Given the description of an element on the screen output the (x, y) to click on. 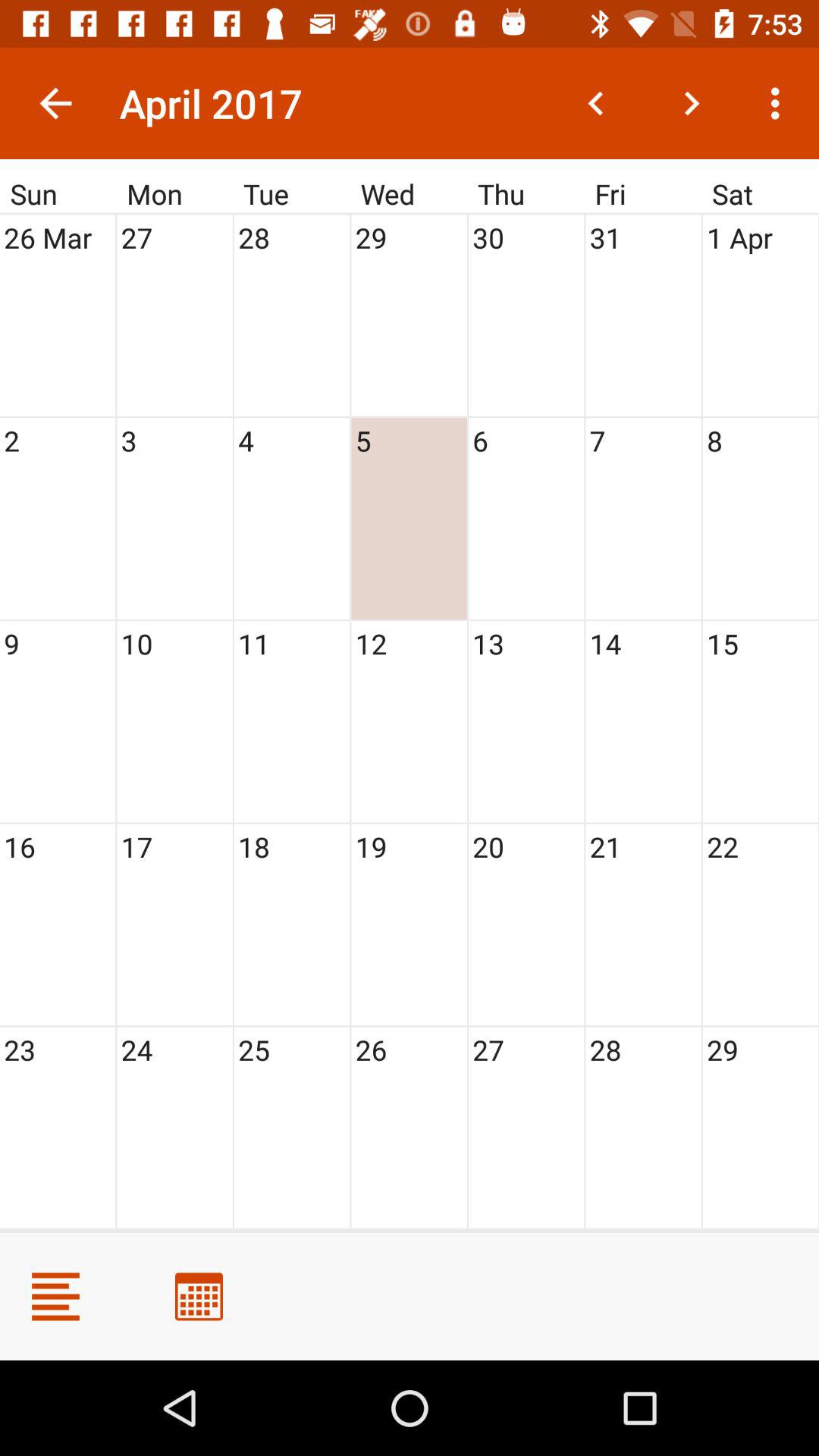
advance one month (691, 103)
